Given the description of an element on the screen output the (x, y) to click on. 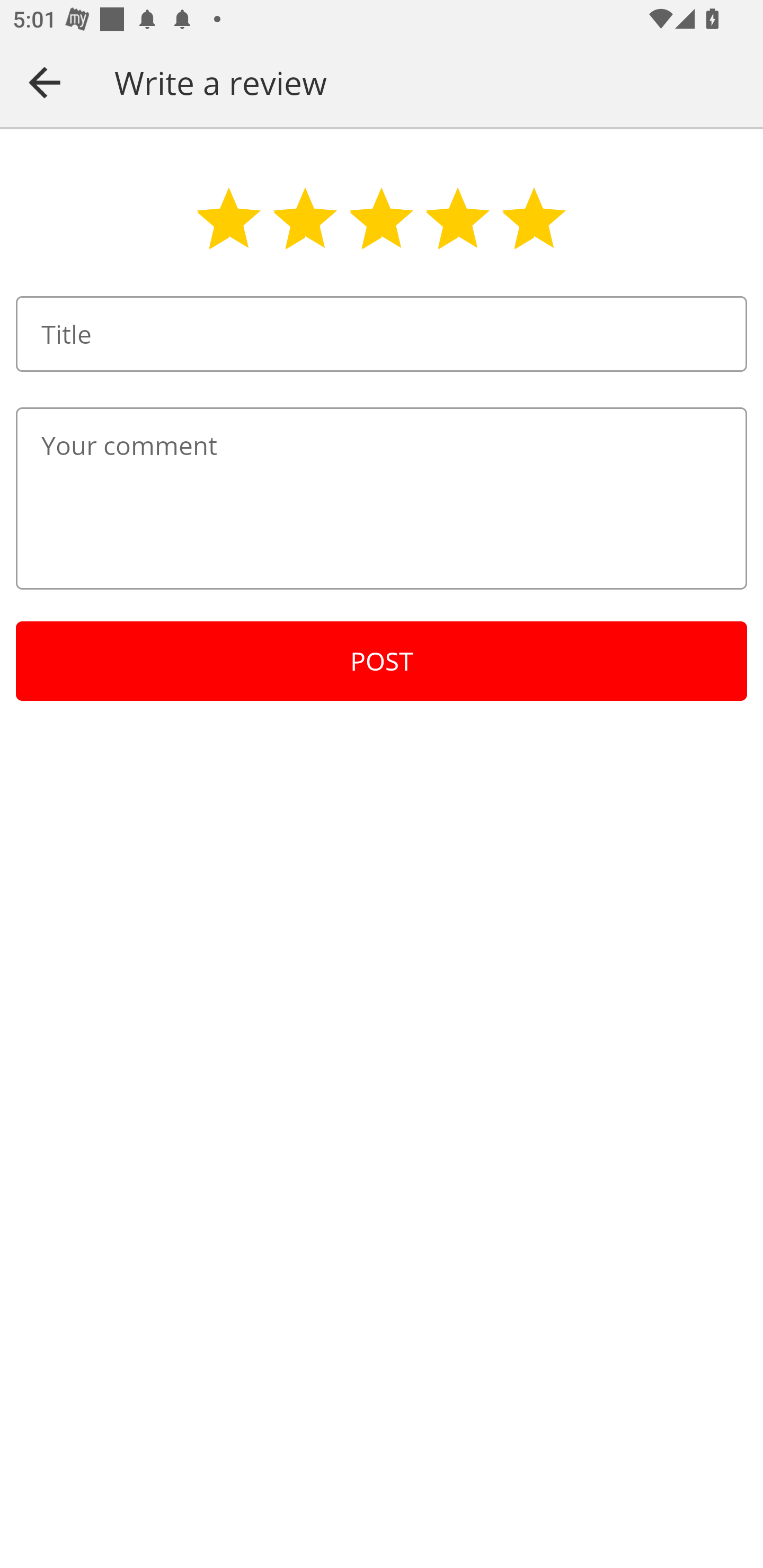
Navigate up (44, 82)
Title (381, 333)
Your comment (381, 498)
POST (381, 660)
